Given the description of an element on the screen output the (x, y) to click on. 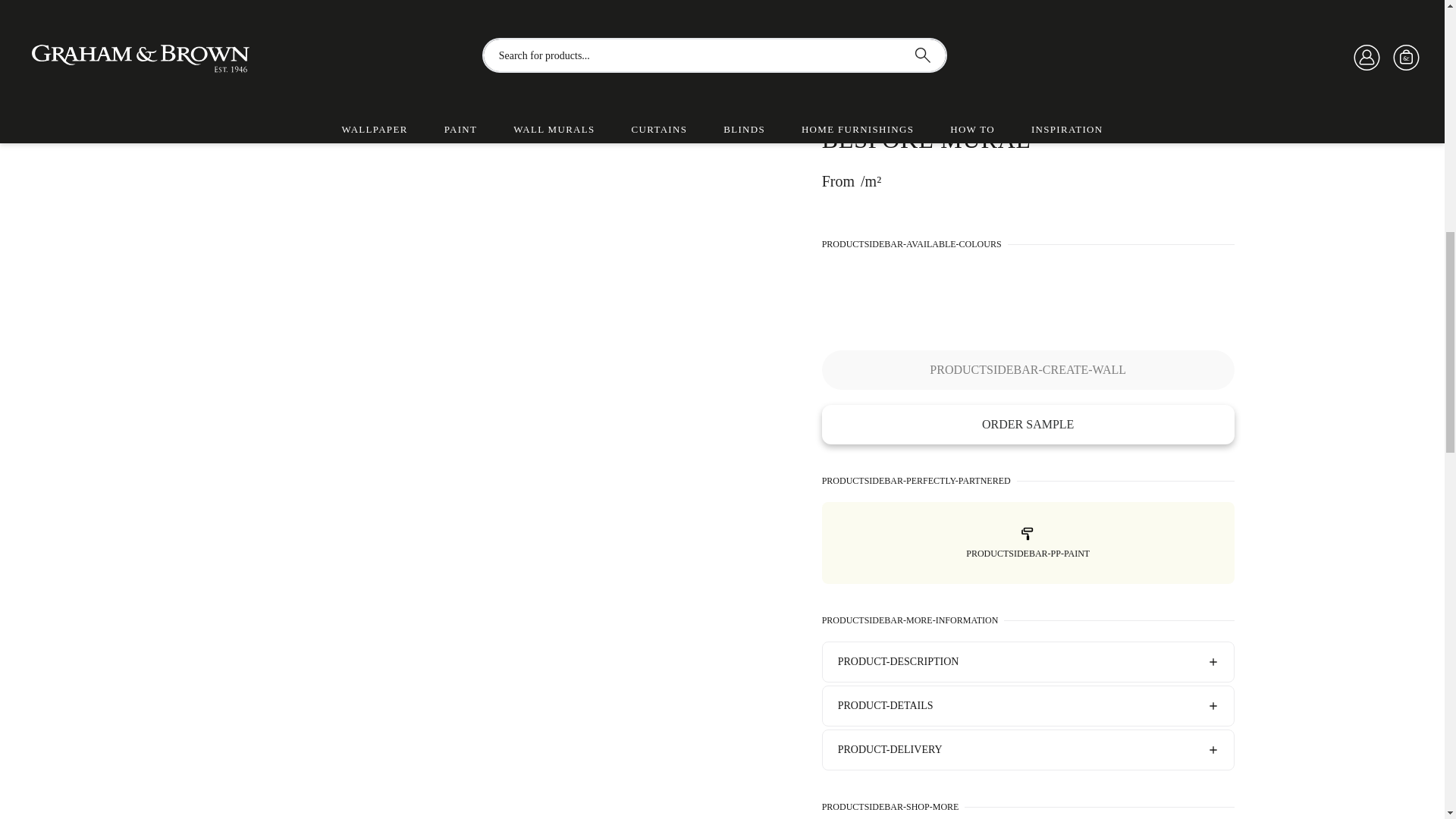
Deep Sky Balloon Race Bespoke Mural (328, 176)
Deep Sky Balloon Race Bespoke Mural (641, 176)
Deep Sky Balloon Race Bespoke Mural (480, 8)
